Given the description of an element on the screen output the (x, y) to click on. 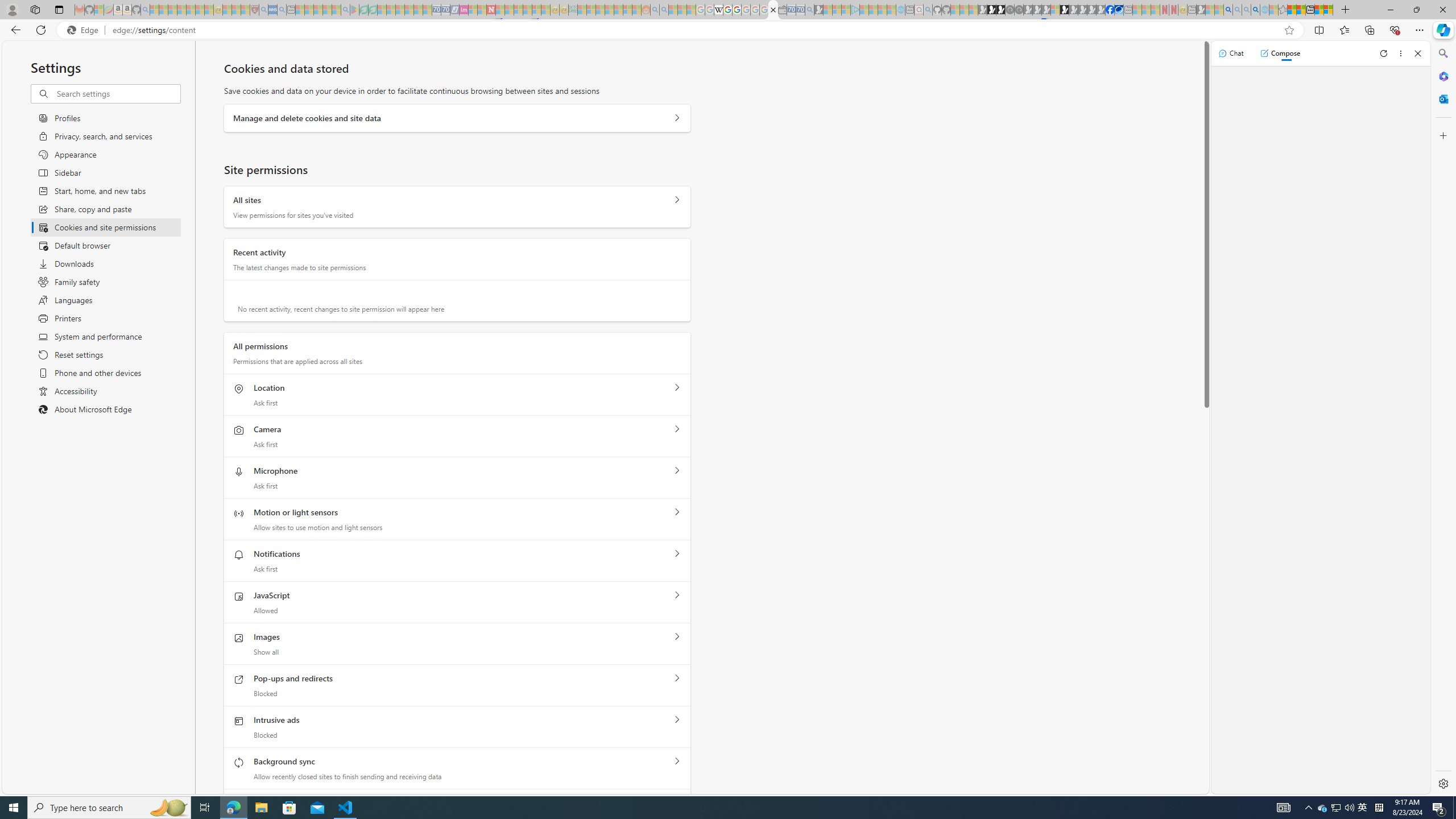
Kinda Frugal - MSN - Sleeping (617, 9)
Sign in to your account - Sleeping (1054, 9)
github - Search - Sleeping (927, 9)
Nordace | Facebook (1109, 9)
Edge (84, 29)
Compose (1279, 52)
Bing Real Estate - Home sales and rental listings - Sleeping (809, 9)
